Given the description of an element on the screen output the (x, y) to click on. 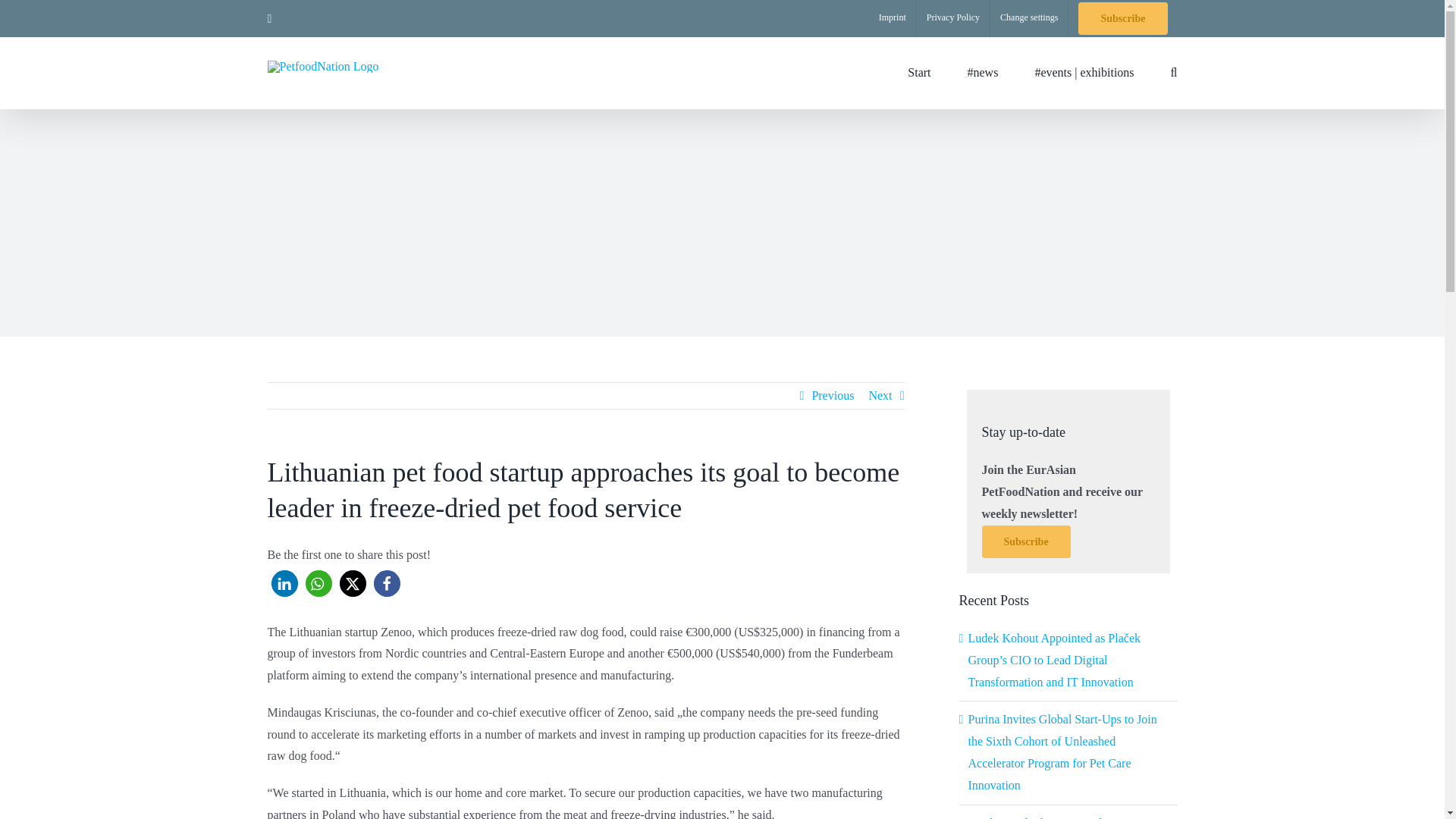
Next (879, 395)
Privacy Policy (953, 18)
Share on Facebook (385, 583)
Share on LinkedIn (284, 583)
Subscribe (1122, 18)
Imprint (892, 18)
Previous (831, 395)
Change settings (1028, 18)
Share on Whatsapp (317, 583)
Subscribe (1025, 541)
